Given the description of an element on the screen output the (x, y) to click on. 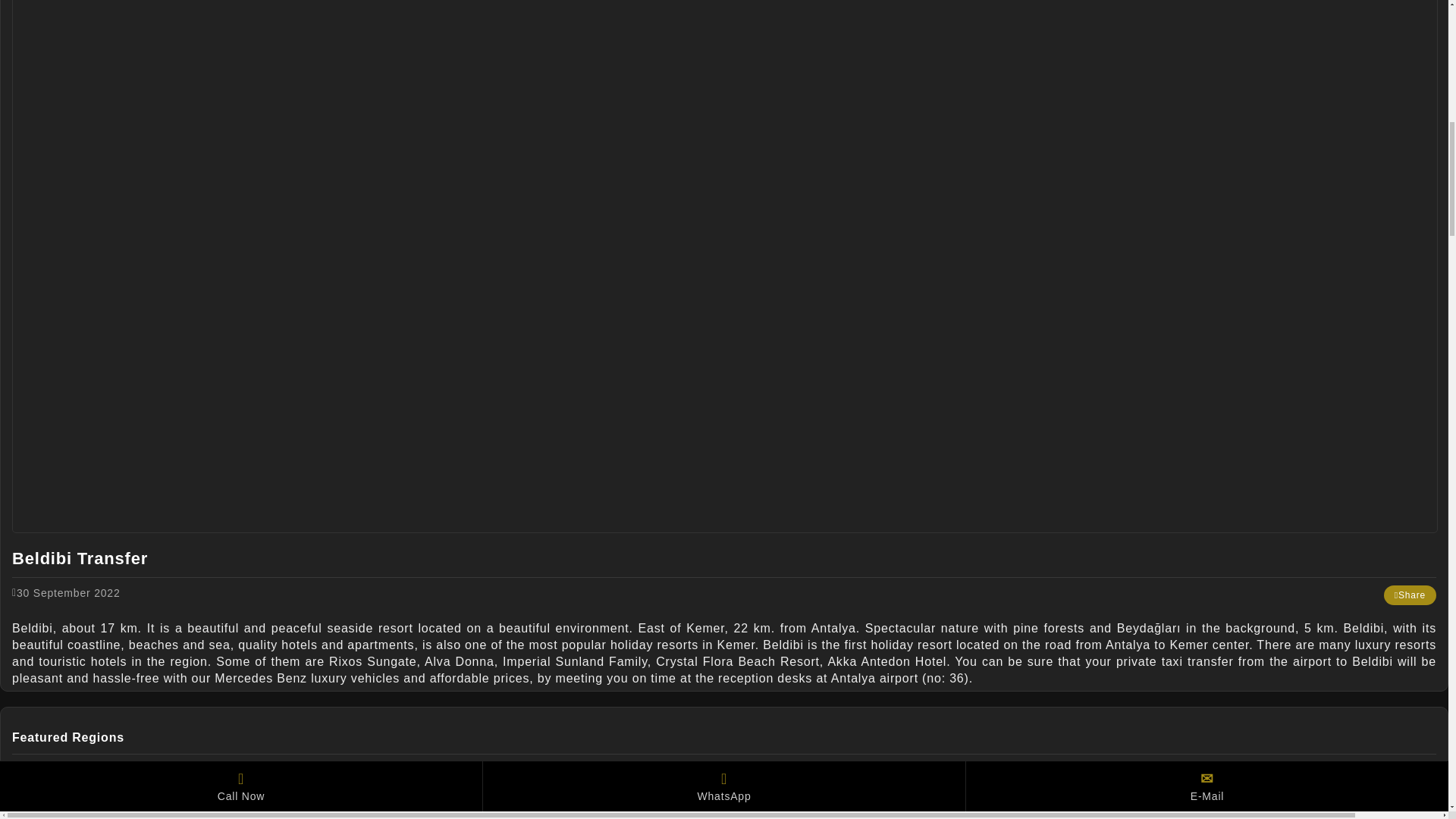
Share (1409, 595)
Adrasan Transfer (733, 809)
Antalya Transfer (733, 777)
